Given the description of an element on the screen output the (x, y) to click on. 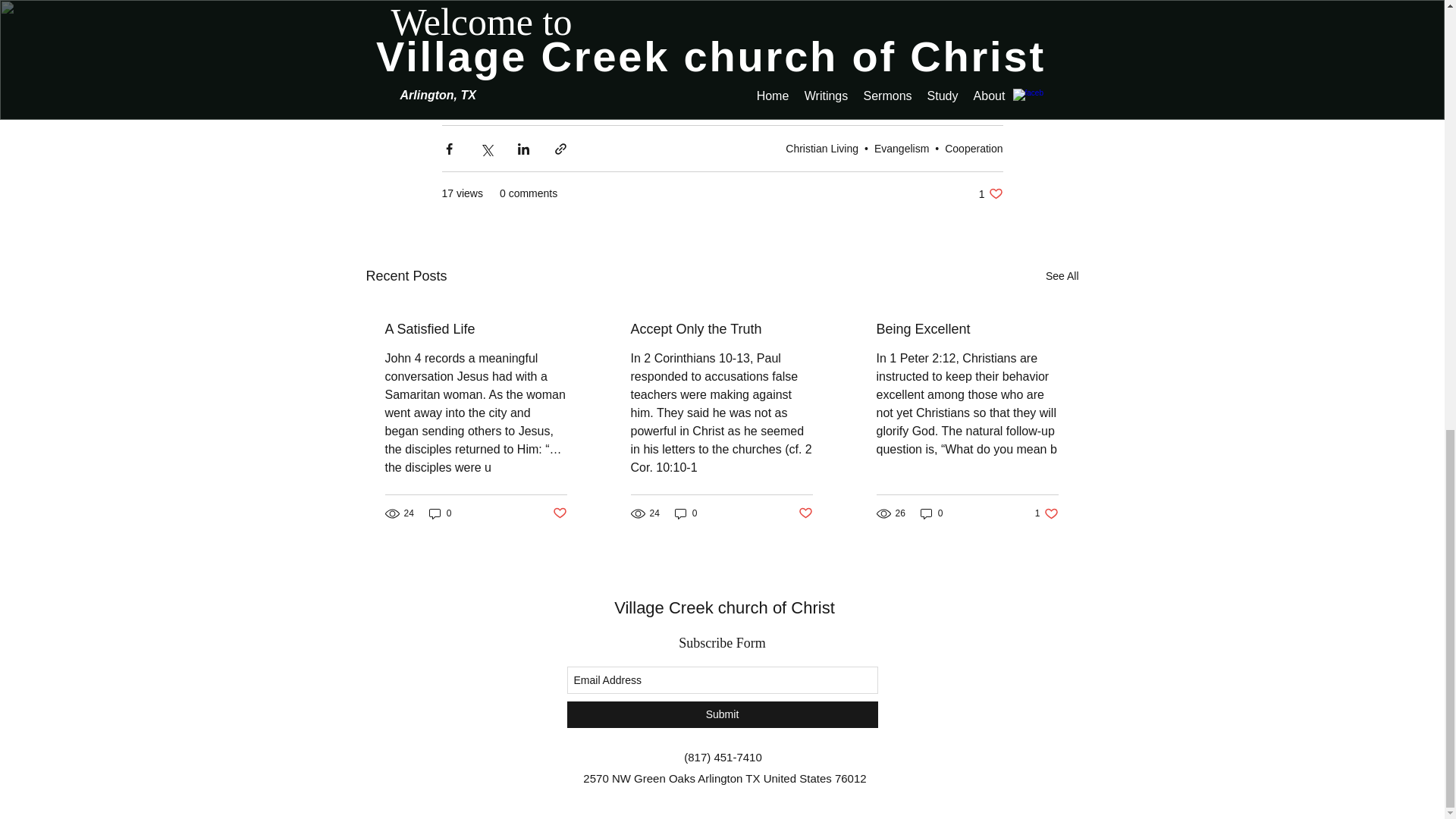
A Satisfied Life (476, 329)
Post not marked as liked (804, 513)
Cooperation (973, 147)
Evangelism (901, 147)
Submit (722, 714)
0 (440, 513)
Being Excellent (967, 329)
Village Creek church of Christ (724, 607)
0 (990, 193)
Accept Only the Truth (1046, 513)
Christian Living (931, 513)
0 (721, 329)
See All (822, 147)
